Given the description of an element on the screen output the (x, y) to click on. 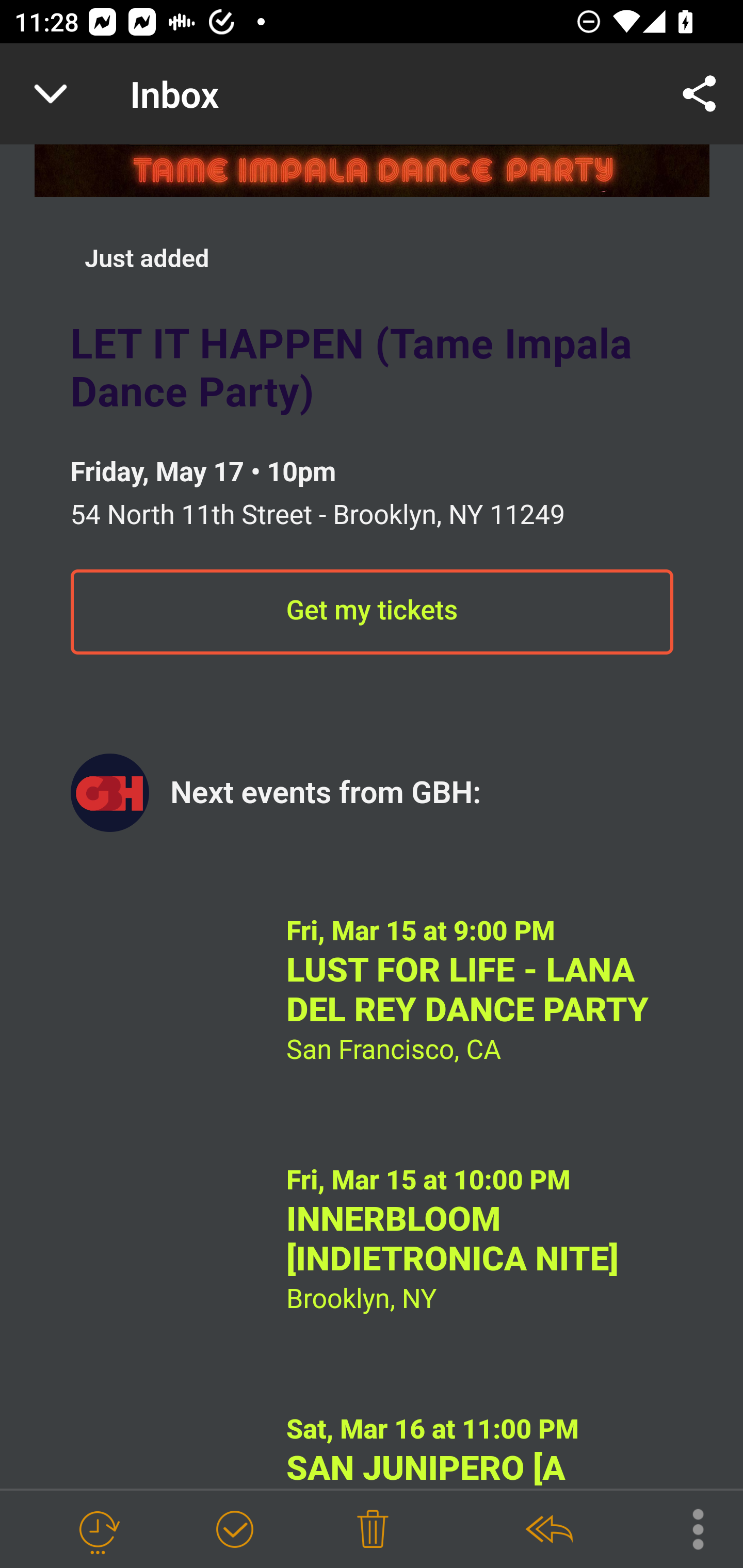
Navigate up (50, 93)
Share (699, 93)
LET IT HAPPEN (Tame Impala Dance Party) (371, 171)
LET IT HAPPEN (Tame Impala Dance Party) (371, 369)
Get my tickets (371, 613)
Snooze (97, 1529)
Mark as Done (234, 1529)
Delete (372, 1529)
Reply All (548, 1529)
